Given the description of an element on the screen output the (x, y) to click on. 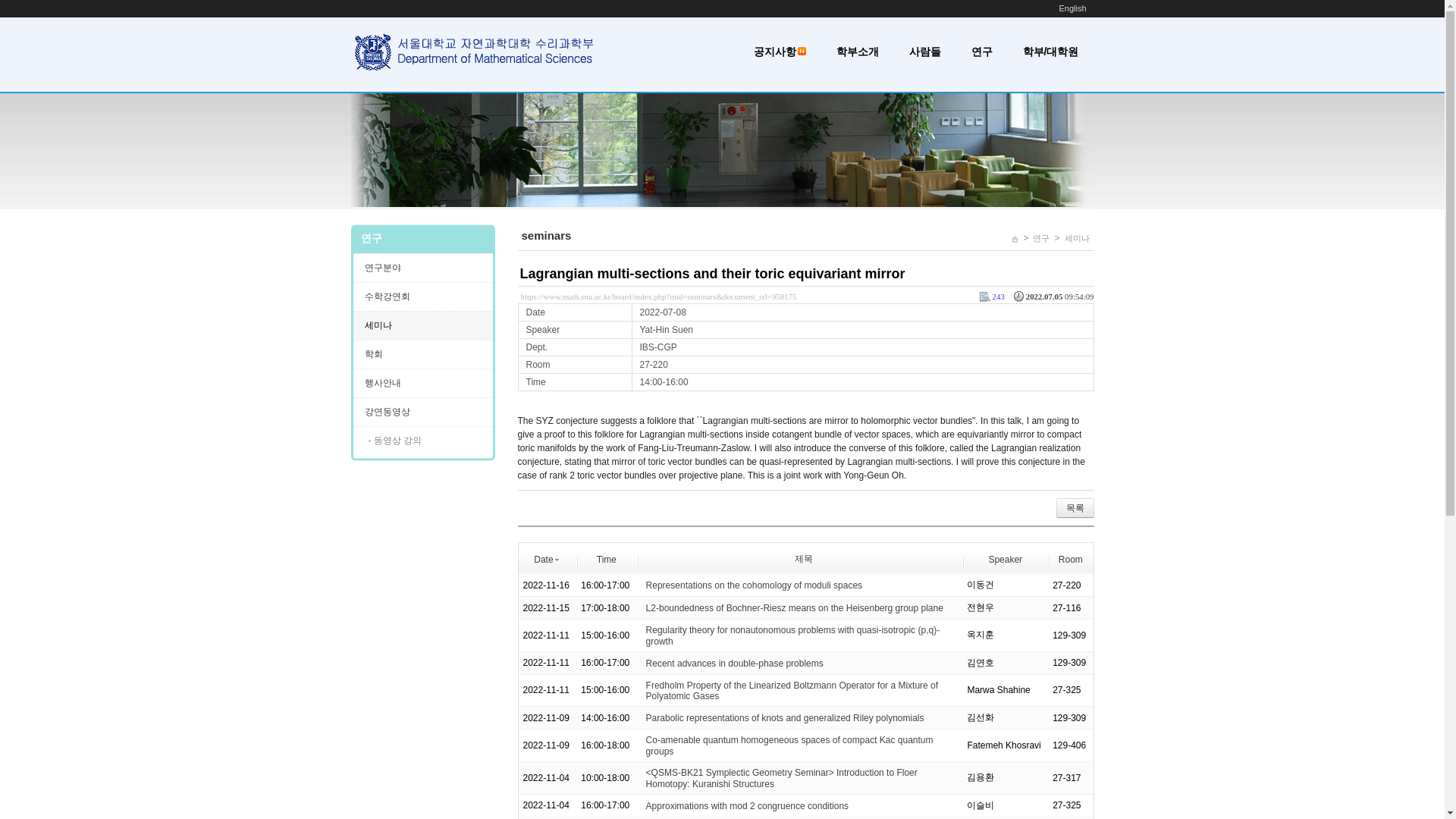
Speaker (1005, 558)
Date (547, 558)
Time (605, 558)
Representations on the cohomology of moduli spaces (754, 584)
English (1072, 8)
Lagrangian multi-sections and their toric equivariant mirror (712, 273)
new (801, 50)
Recent advances in double-phase problems (735, 663)
Room (1070, 558)
